Given the description of an element on the screen output the (x, y) to click on. 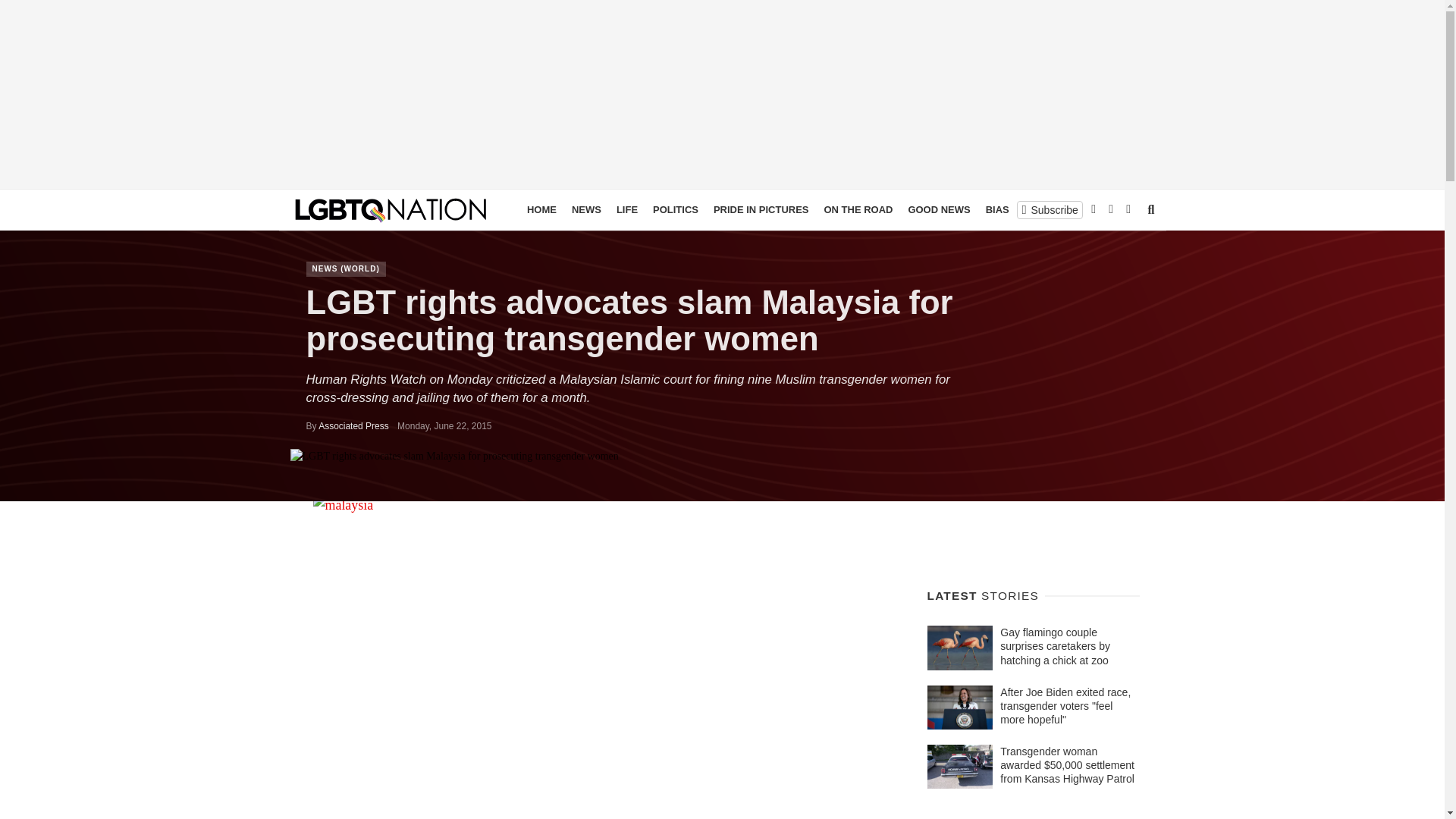
Associated Press (353, 425)
NEWS (586, 209)
COMMENTARY (1097, 209)
PRIDE IN PICTURES (761, 209)
Posts by Associated Press (353, 425)
ON THE ROAD (857, 209)
HOME (541, 209)
Subscribe (1049, 209)
LIFE (626, 209)
Monday, June 22, 2015 pm30 15:00:53 (444, 425)
